Given the description of an element on the screen output the (x, y) to click on. 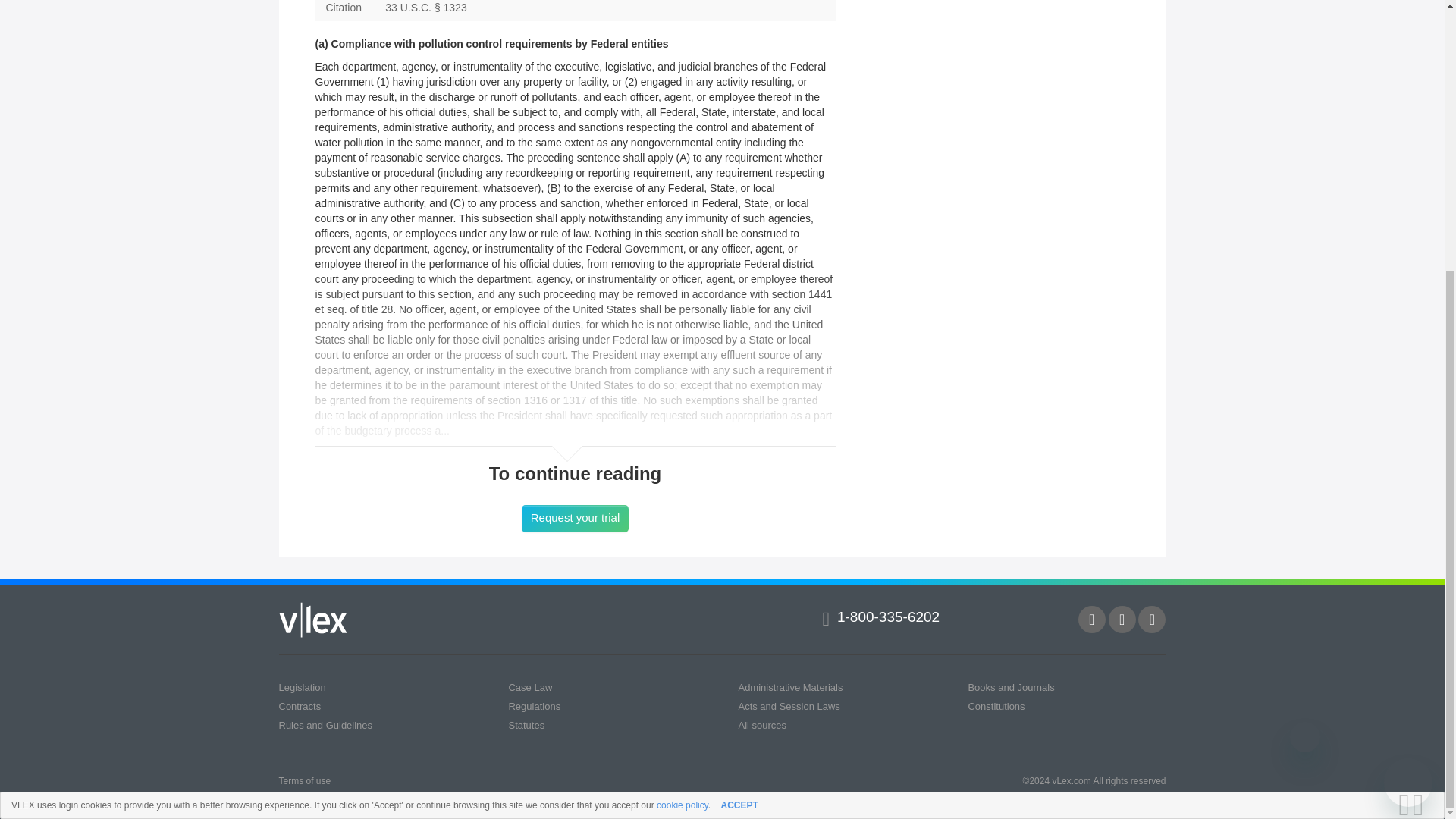
Regulations (534, 706)
Administrative Materials (790, 686)
Books and Journals (1011, 686)
Terms of use (305, 780)
Rules and Guidelines (325, 725)
Acts and Session Laws (789, 706)
Legislation (302, 686)
Contracts (300, 706)
Administrative Materials (790, 686)
Constitutions (996, 706)
